Given the description of an element on the screen output the (x, y) to click on. 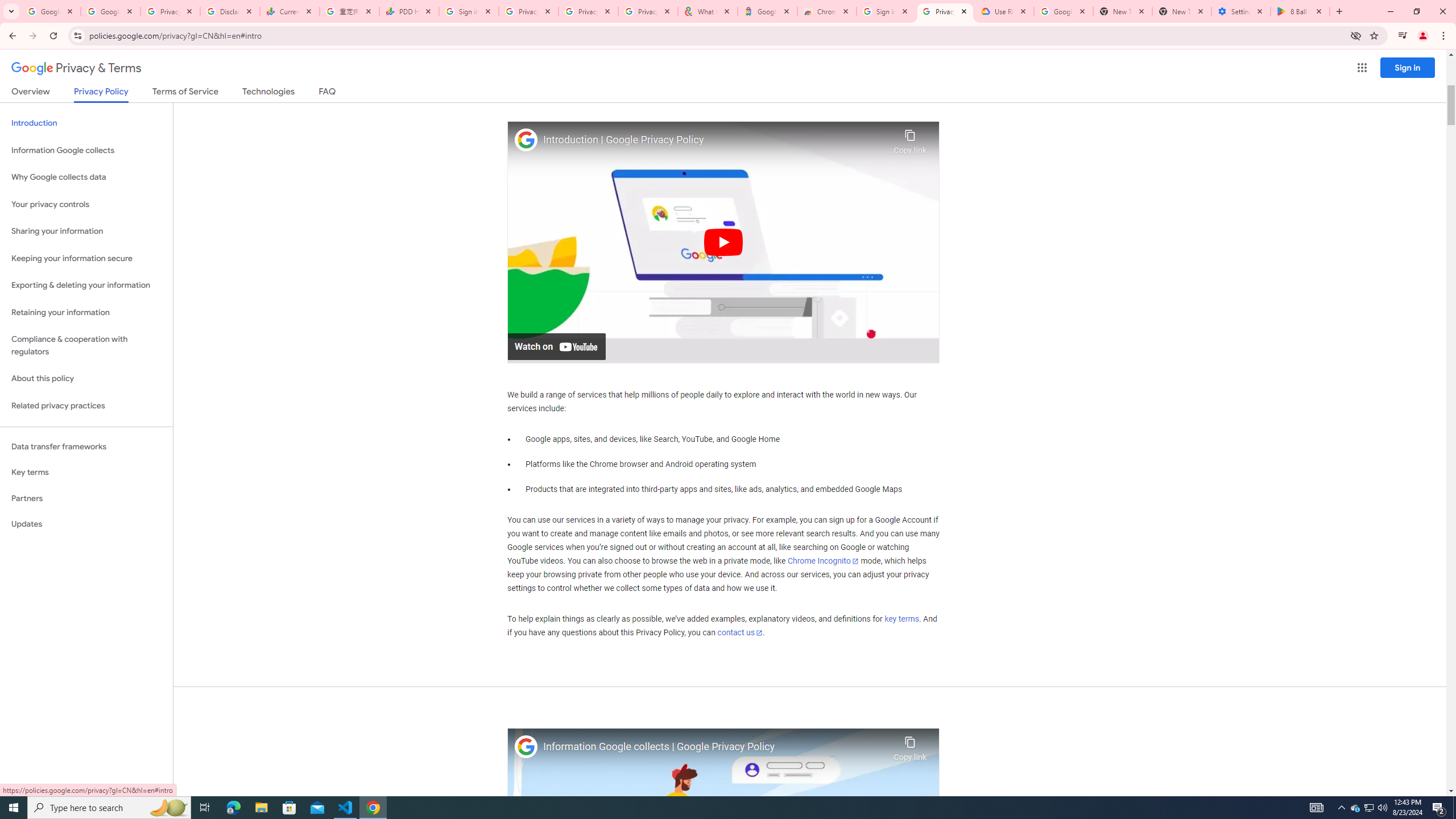
Exporting & deleting your information (86, 284)
Chrome Web Store - Color themes by Chrome (826, 11)
FAQ (327, 93)
Chrome Incognito (823, 561)
Sharing your information (86, 230)
Keeping your information secure (86, 258)
Why Google collects data (86, 176)
